Given the description of an element on the screen output the (x, y) to click on. 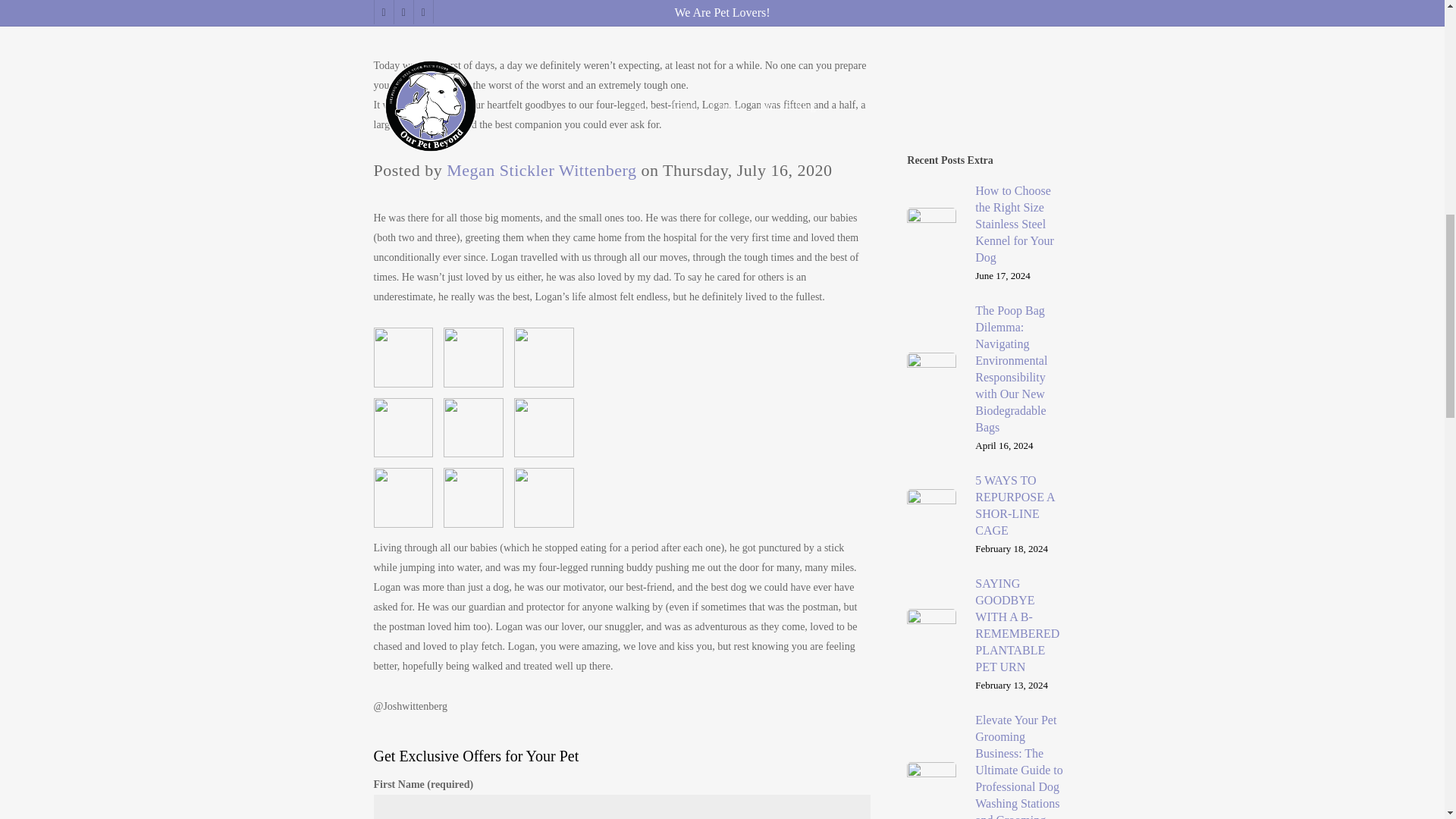
Megan Stickler Wittenberg (541, 169)
